Given the description of an element on the screen output the (x, y) to click on. 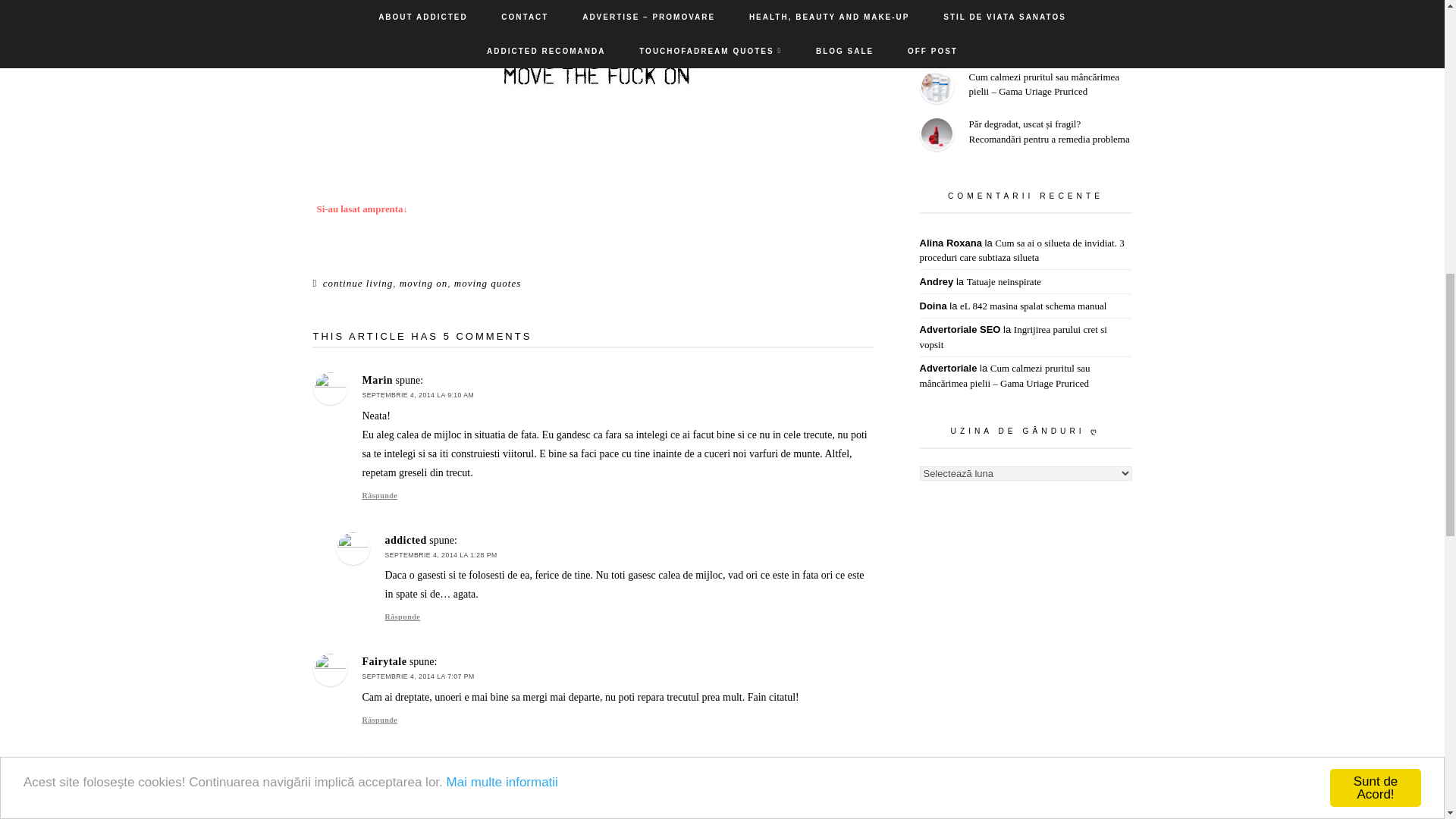
Mai multe informatii (501, 48)
Sunt de Acord! (1375, 62)
